Given the description of an element on the screen output the (x, y) to click on. 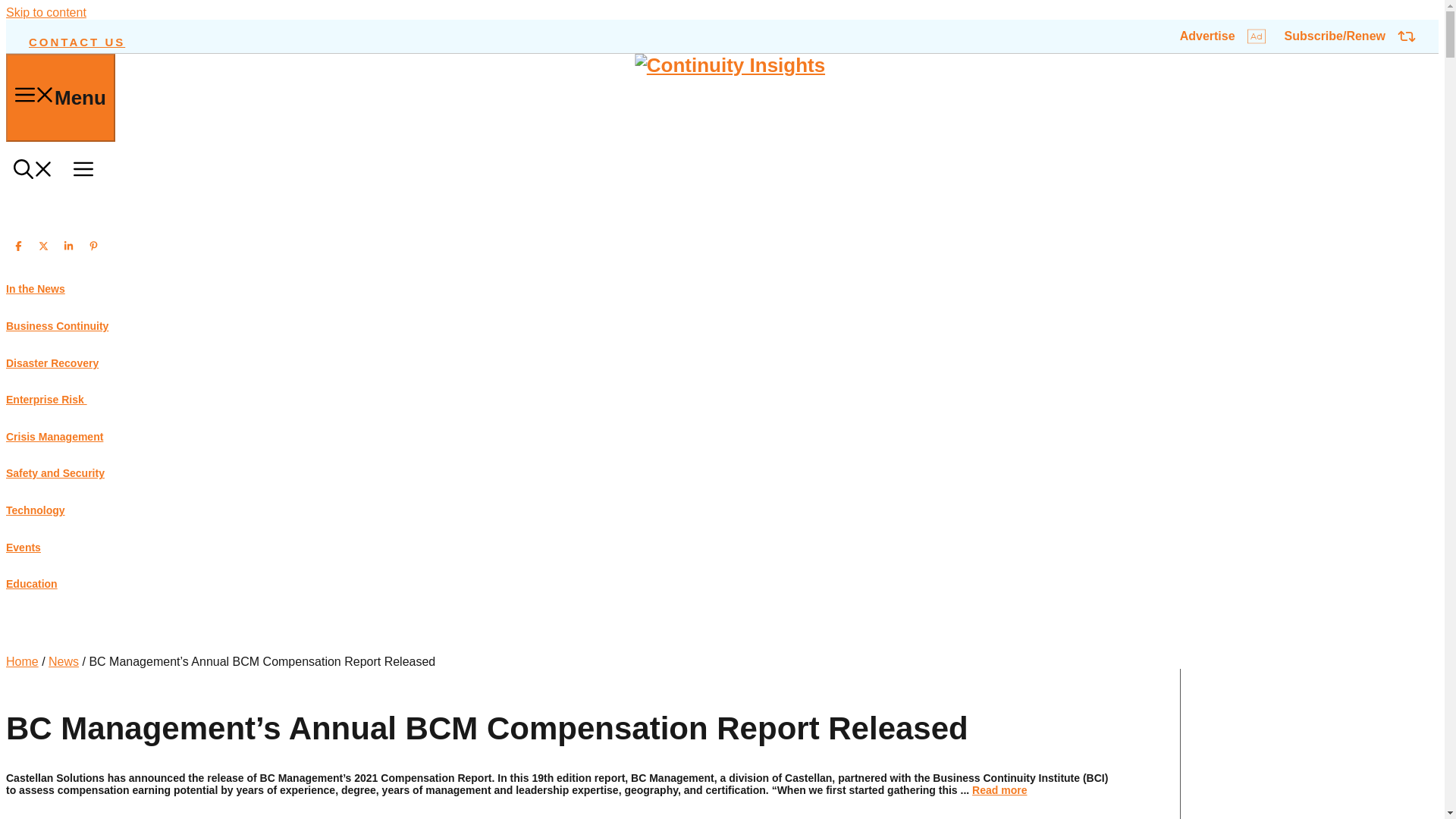
Advertise (1222, 36)
Continuity Insights (729, 65)
Crisis Management (54, 436)
Technology (35, 510)
Disaster Recovery (52, 363)
Business Continuity (56, 326)
Continuity Insights (729, 65)
In the News (35, 288)
Skip to content (45, 11)
Enterprise Risk  (46, 399)
News (63, 661)
Safety and Security (54, 472)
Home (22, 661)
Read more (999, 789)
Education (31, 583)
